Given the description of an element on the screen output the (x, y) to click on. 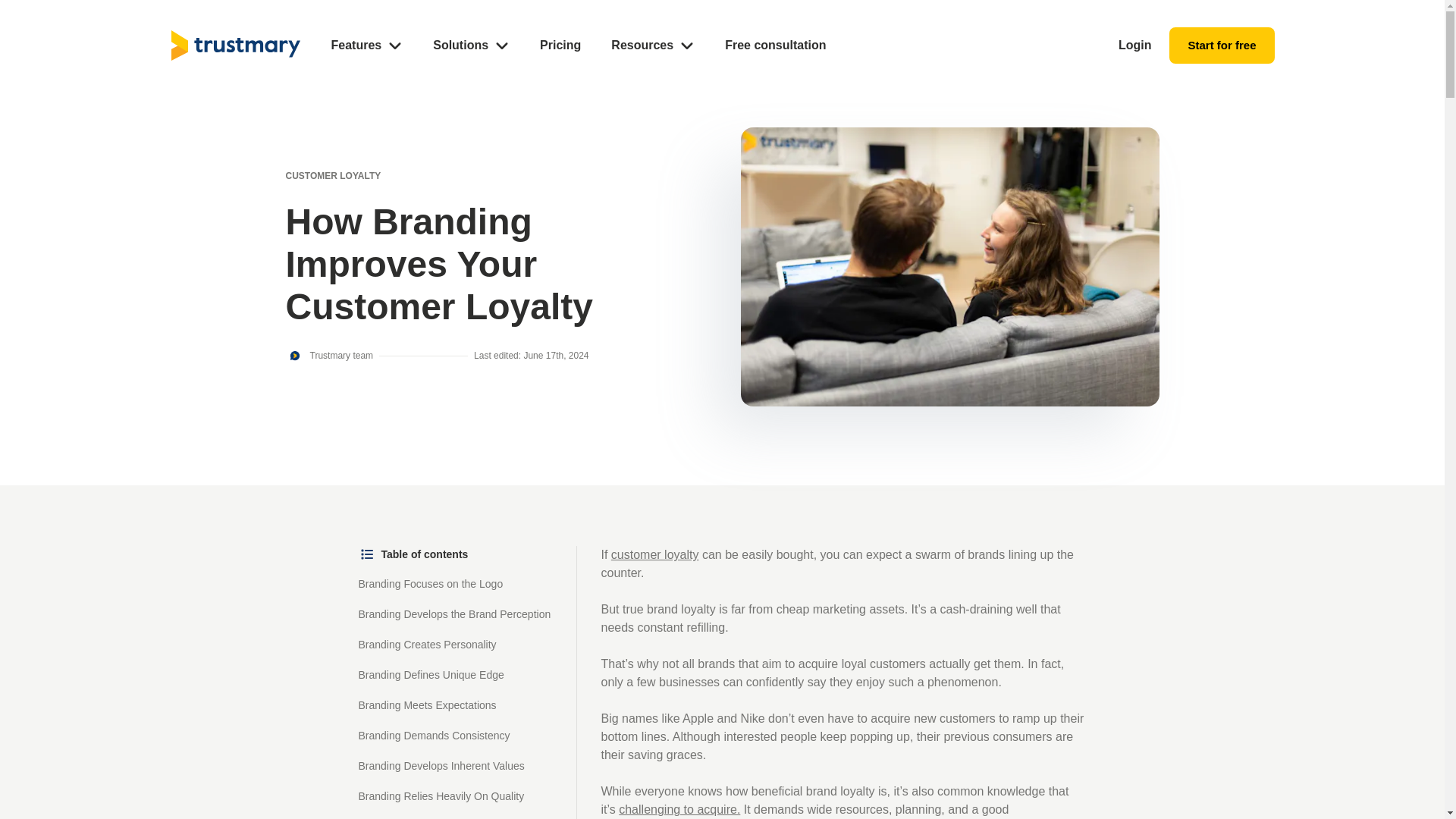
Branding Meets Expectations (427, 704)
Resources (652, 45)
Branding Demands Consistency (433, 735)
Branding Creates Personality (427, 644)
Login (1134, 45)
Branding Develops the Brand Perception (454, 613)
Pricing (560, 45)
Branding Defines Unique Edge (430, 674)
Branding Relies Heavily On Quality (441, 795)
Start for free (1221, 45)
Features (366, 45)
Free consultation (775, 45)
Branding Develops Inherent Values (441, 765)
Branding Focuses on the Logo (430, 583)
Solutions (470, 45)
